Given the description of an element on the screen output the (x, y) to click on. 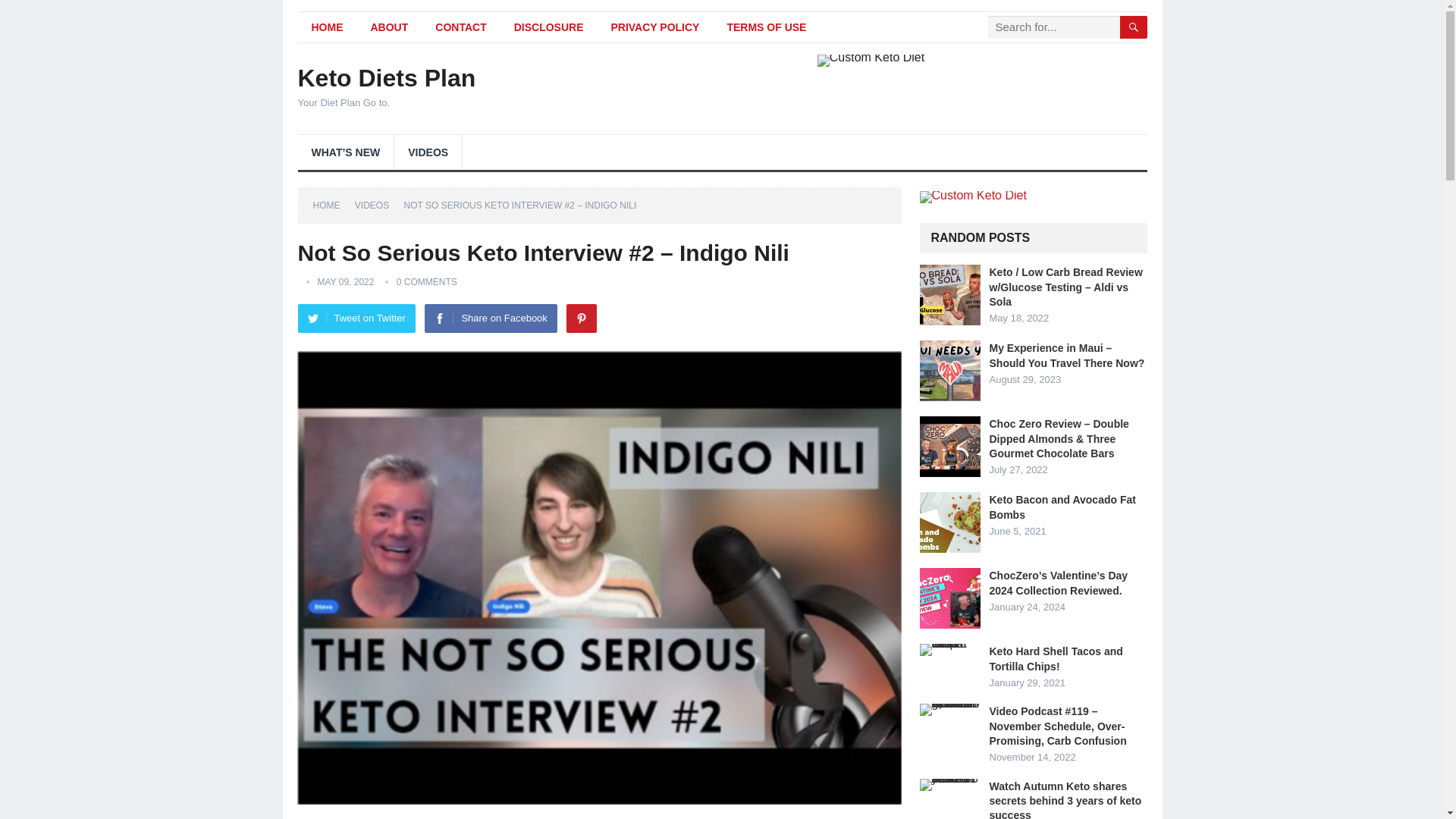
PRIVACY POLICY (654, 27)
ABOUT (389, 27)
TERMS OF USE (766, 27)
VIDEOS (376, 204)
CONTACT (460, 27)
VIDEOS (427, 152)
HOME (331, 204)
HOME (326, 27)
My Experience in Maui - Should You Travel There Now? 15 (948, 370)
Pinterest (581, 317)
